Given the description of an element on the screen output the (x, y) to click on. 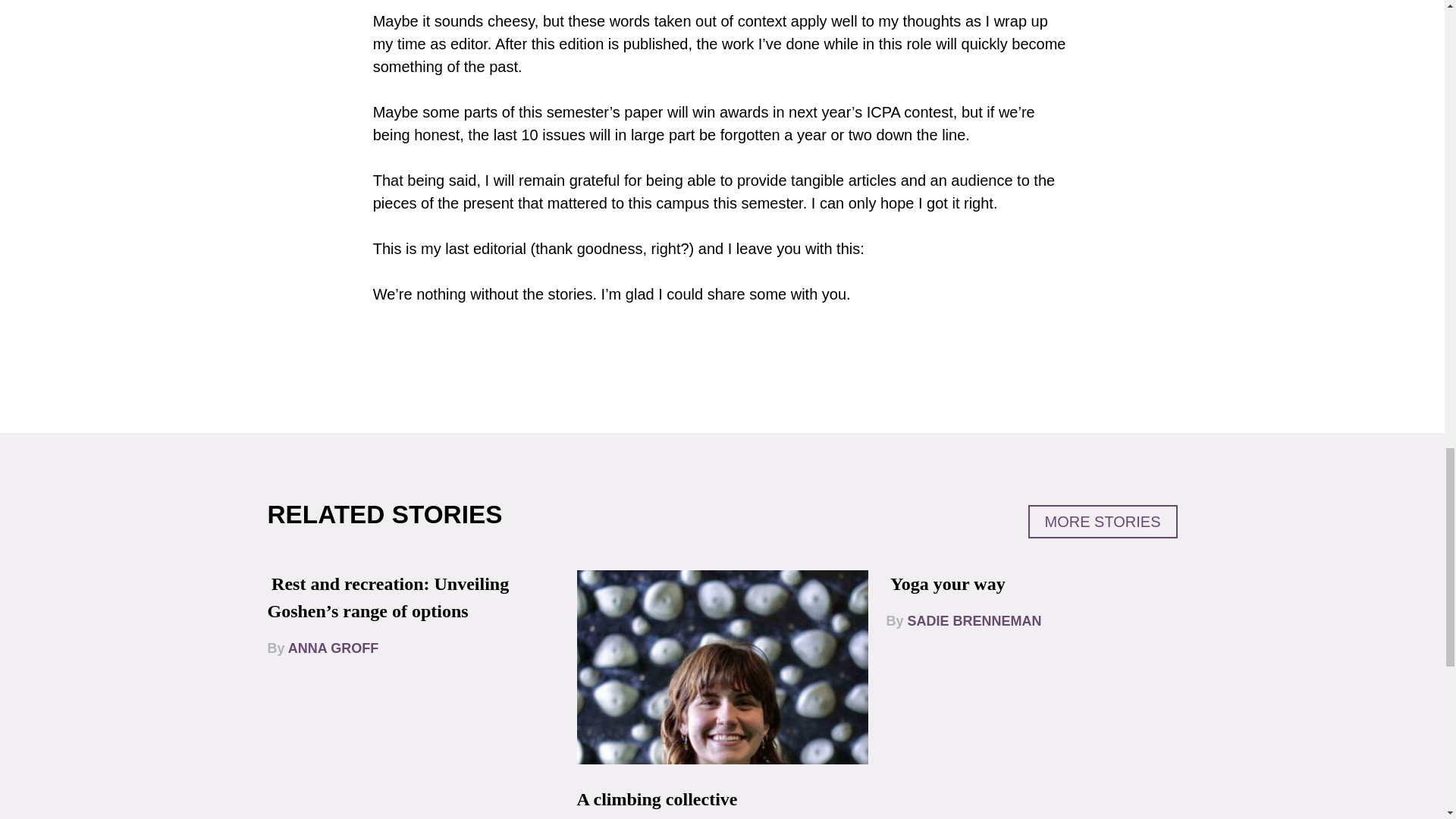
SADIE BRENNEMAN (974, 620)
ANNA GROFF (333, 648)
MORE STORIES (1102, 521)
A climbing collective (656, 799)
Yoga your way (947, 583)
